Given the description of an element on the screen output the (x, y) to click on. 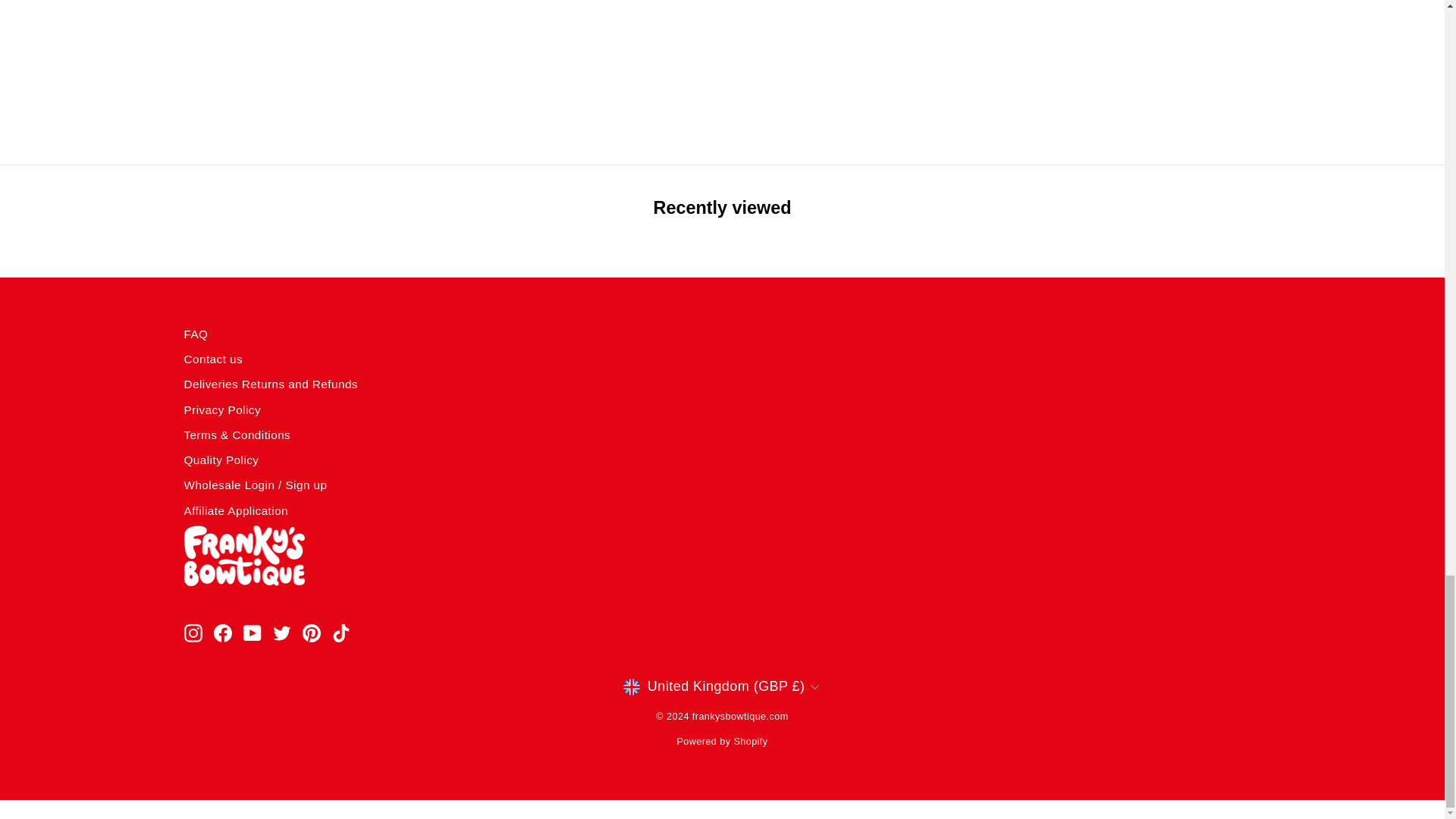
frankysbowtique.com on YouTube (251, 633)
frankysbowtique.com on Instagram (192, 633)
frankysbowtique.com on Facebook (222, 633)
frankysbowtique.com on Twitter (282, 633)
